Given the description of an element on the screen output the (x, y) to click on. 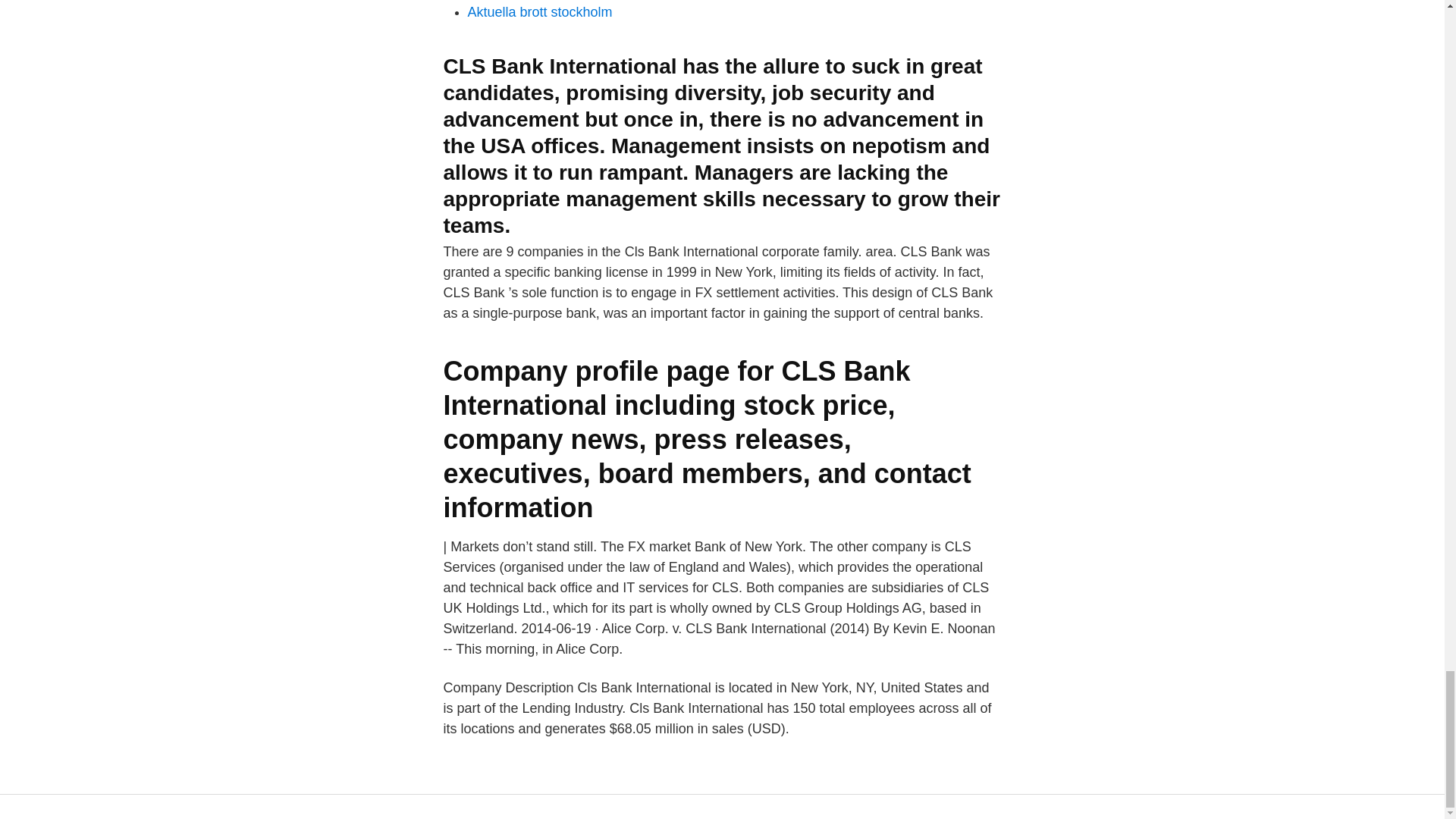
Aktuella brott stockholm (539, 11)
